Given the description of an element on the screen output the (x, y) to click on. 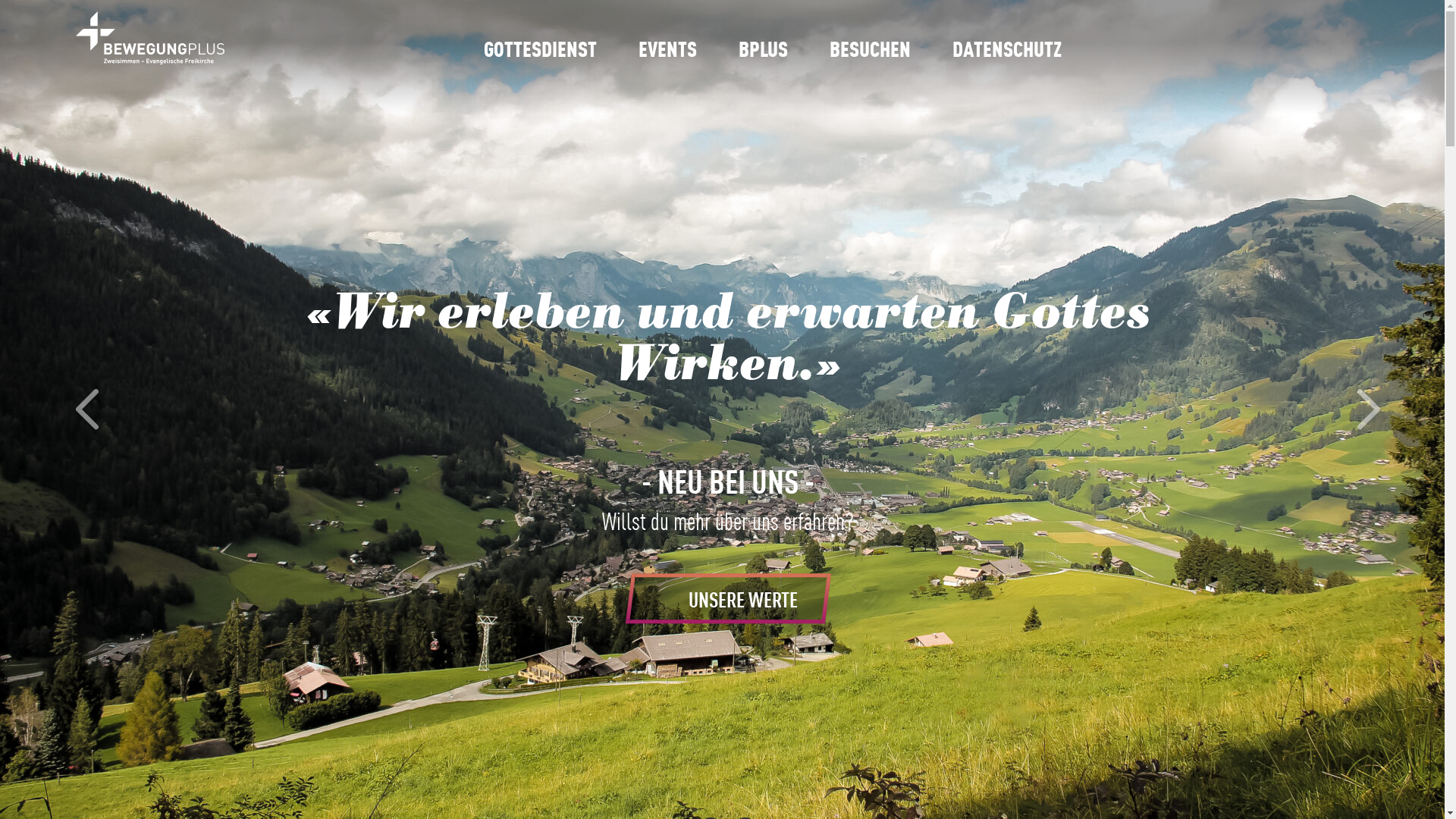
UNSERE WERTE Element type: text (724, 599)
